Given the description of an element on the screen output the (x, y) to click on. 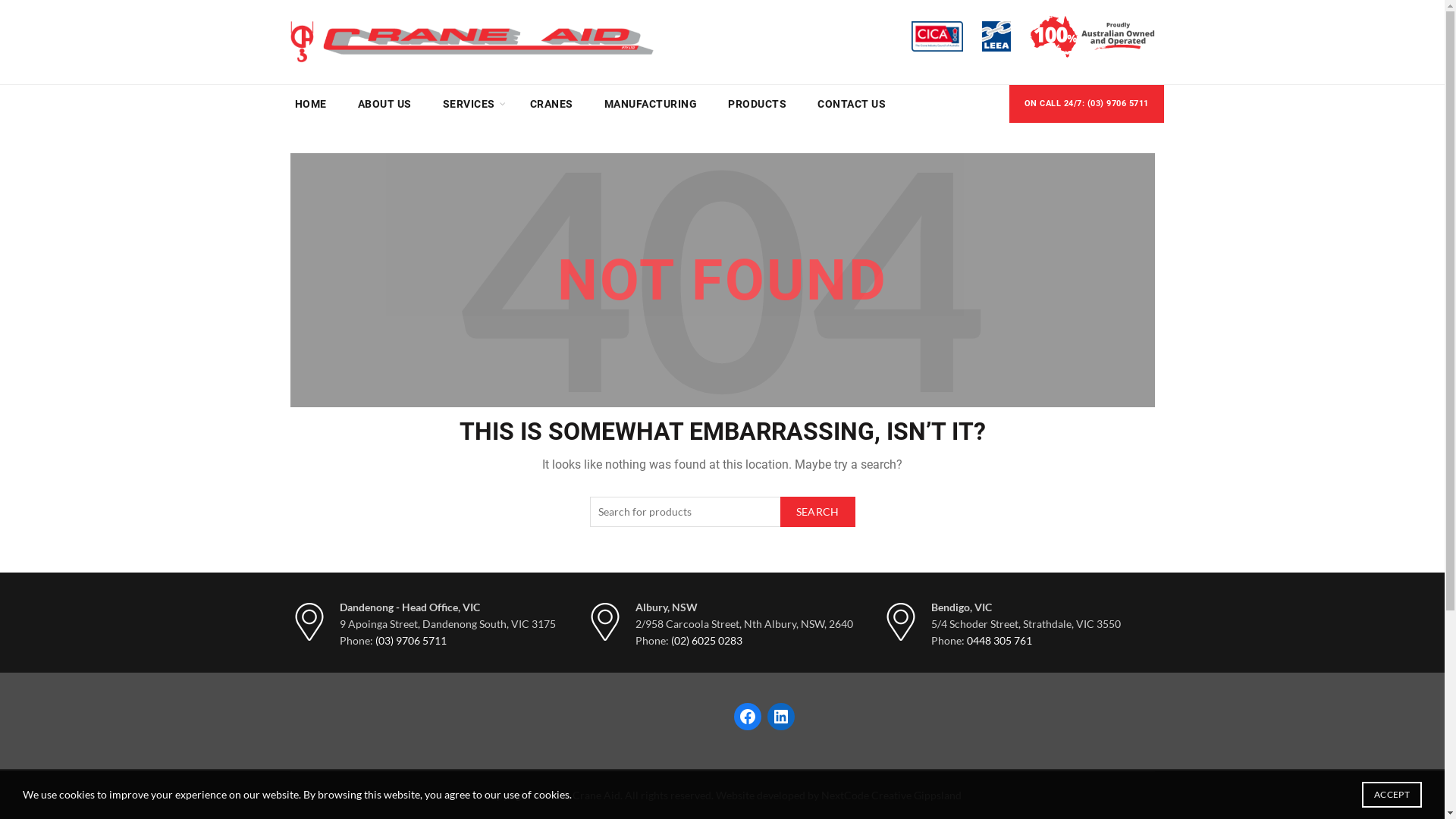
ON CALL 24/7: (03) 9706 5711 Element type: text (1085, 103)
HOME Element type: text (310, 103)
info@craneaid.com.au Element type: text (793, 665)
SERVICES Element type: text (468, 103)
Modernisation Element type: text (473, 616)
Inspections Element type: text (465, 594)
PRODUCTS Element type: text (756, 103)
0448 305 761 Element type: text (998, 639)
Crane Spare Parts Element type: text (627, 572)
pin Element type: hover (604, 621)
(02) 6025 0283 Element type: text (705, 639)
CONTACT US Element type: text (851, 103)
ACCEPT Element type: text (1391, 794)
SEARCH Element type: text (817, 511)
Lifting Equipment Element type: text (627, 616)
NextCode Creative Gippsland Element type: text (891, 794)
MANUFACTURING Element type: text (650, 103)
Cranes Element type: text (601, 594)
(03) 9706 5711 Element type: text (409, 639)
Engineering Element type: text (466, 638)
ABOUT US Element type: text (384, 103)
Crane Repairs Element type: text (471, 572)
Wire Rope Hoists Element type: text (626, 638)
03 9706 5711 Element type: text (773, 644)
CRANES Element type: text (550, 103)
pin Element type: hover (900, 621)
Crane Aid Element type: hover (721, 457)
pin Element type: hover (308, 621)
